Given the description of an element on the screen output the (x, y) to click on. 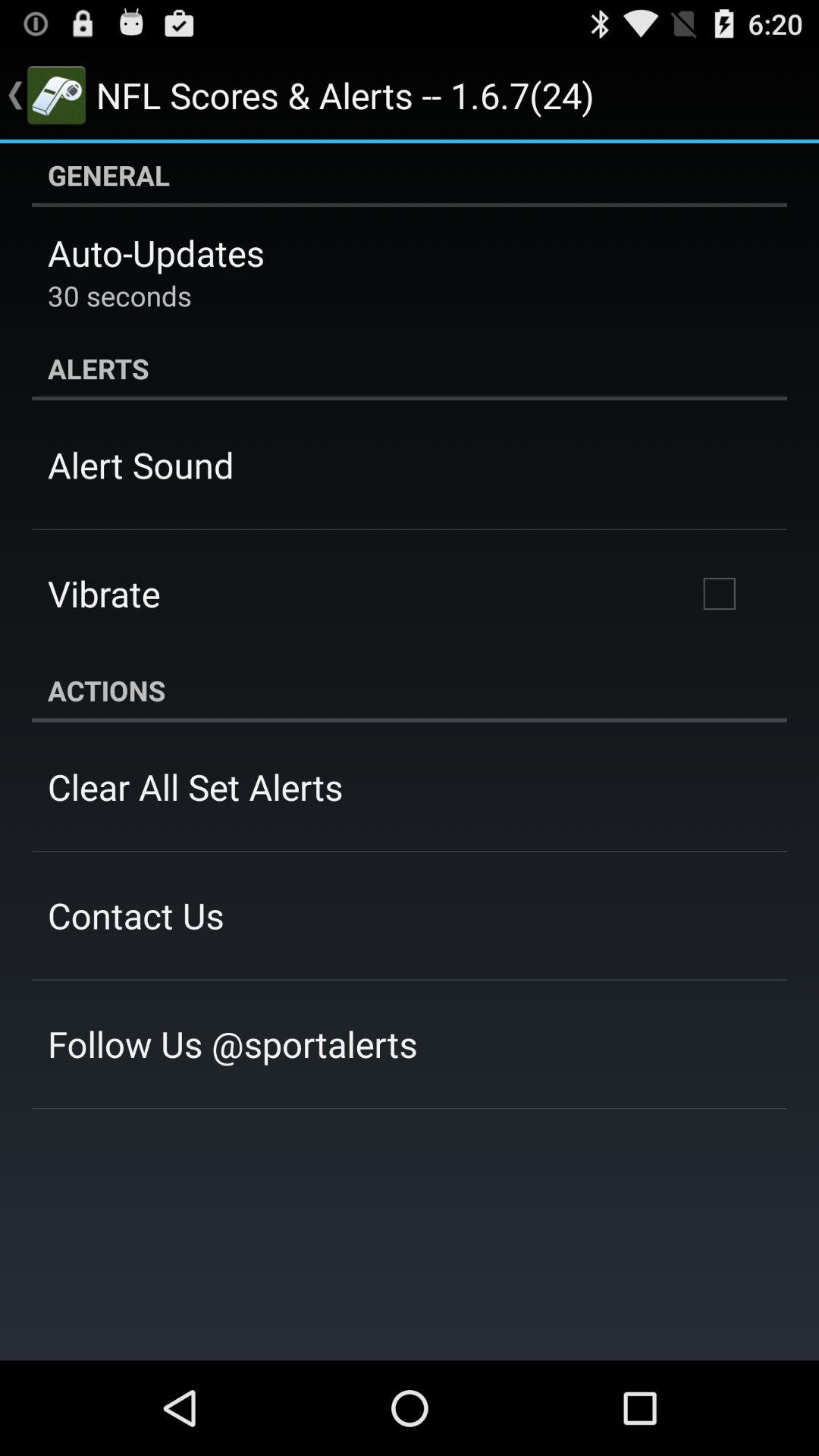
launch icon above the actions (719, 593)
